Given the description of an element on the screen output the (x, y) to click on. 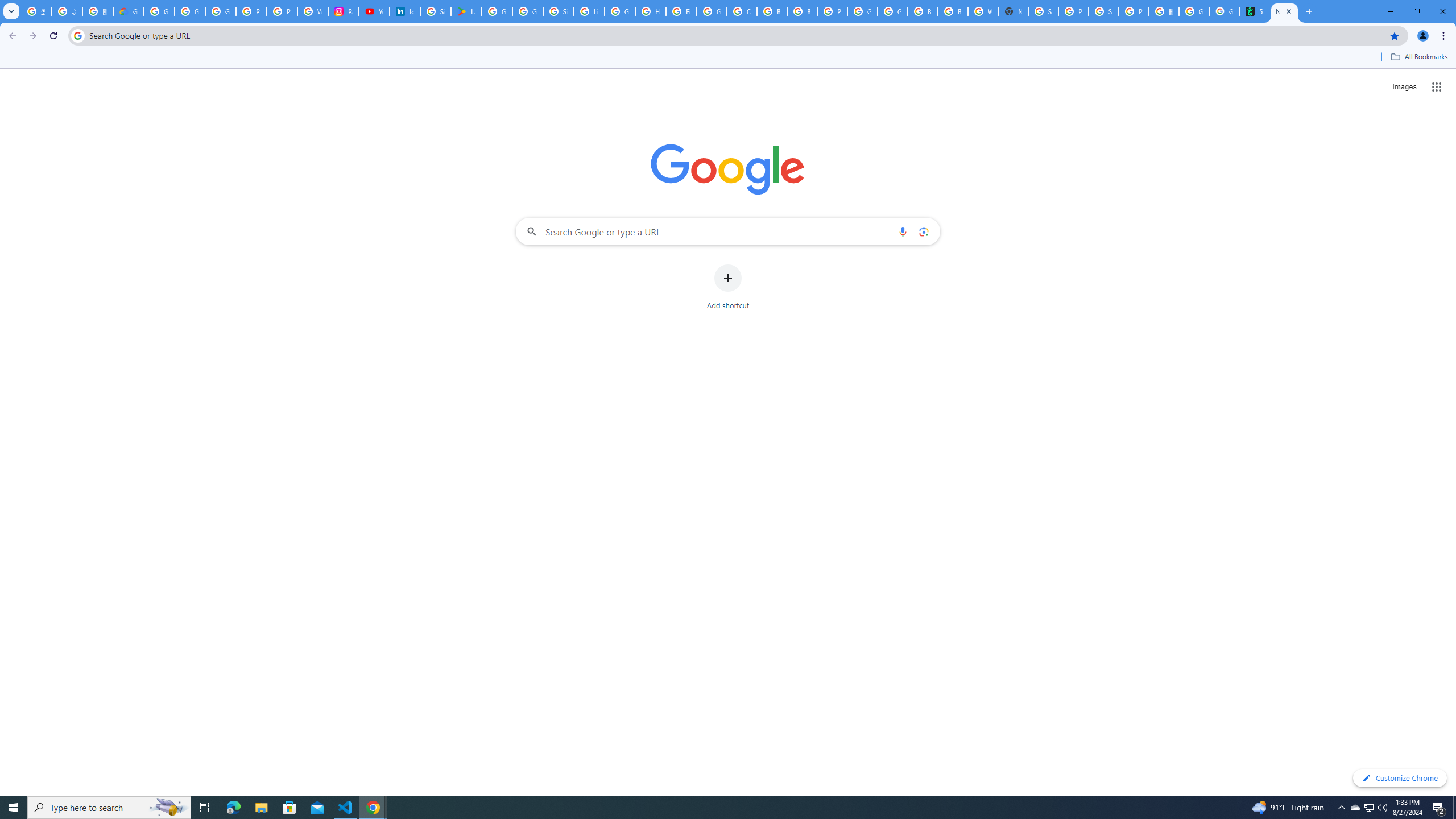
Privacy Help Center - Policies Help (282, 11)
New Tab (1012, 11)
Google Cloud Platform (862, 11)
Last Shelter: Survival - Apps on Google Play (465, 11)
